Given the description of an element on the screen output the (x, y) to click on. 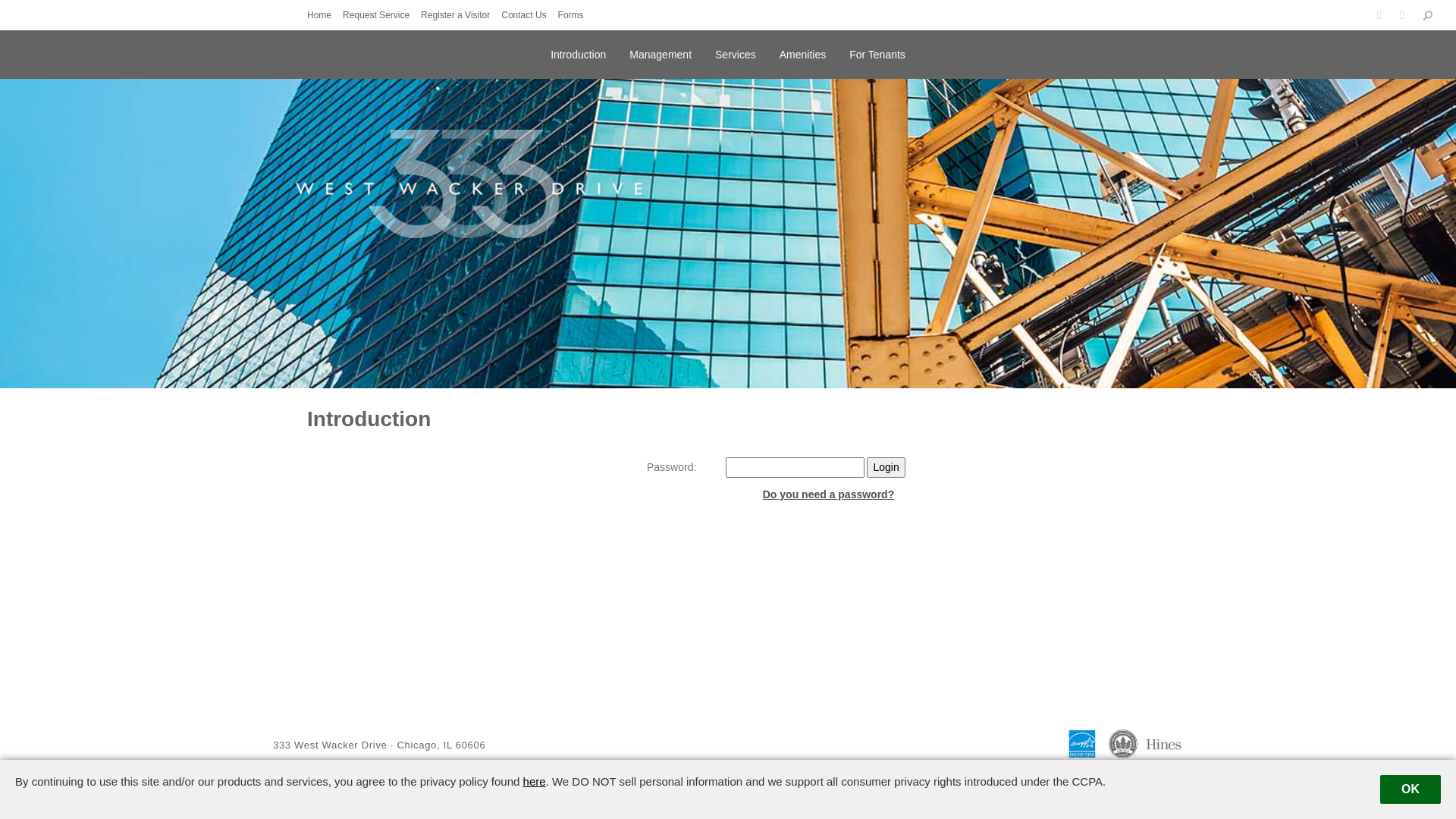
Services Element type: text (735, 52)
Management Element type: text (660, 52)
Introduction Element type: text (577, 52)
Register a Visitor Element type: text (458, 14)
Forms Element type: text (574, 14)
here Element type: text (534, 781)
For Tenants Element type: text (877, 52)
Request Service Element type: text (379, 14)
Suggestion Box Element type: text (1220, 776)
Login Element type: text (885, 467)
Contact Us Element type: text (527, 14)
Home Element type: text (322, 14)
Powered by ETS. Element type: text (719, 776)
Do you need a password? Element type: text (828, 494)
Amenities Element type: text (802, 52)
